Given the description of an element on the screen output the (x, y) to click on. 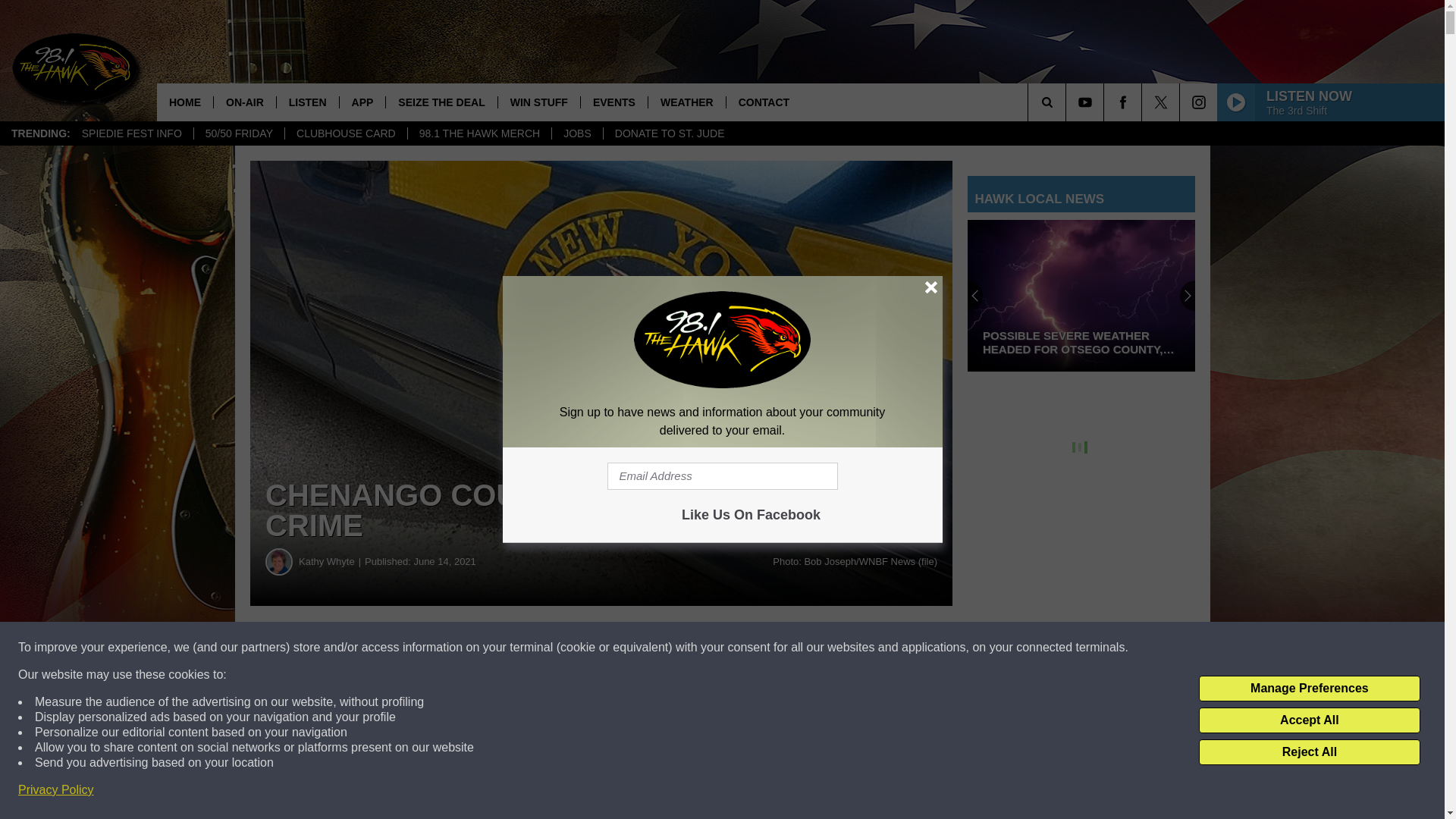
Reject All (1309, 751)
98.1 THE HAWK MERCH (479, 133)
SEARCH (1068, 102)
JOBS (576, 133)
Accept All (1309, 720)
Share on Facebook (460, 647)
SEARCH (1068, 102)
Email Address (722, 475)
Manage Preferences (1309, 688)
DONATE TO ST. JUDE (669, 133)
EVENTS (613, 102)
SPIEDIE FEST INFO (131, 133)
WIN STUFF (538, 102)
SEIZE THE DEAL (440, 102)
HOME (184, 102)
